Given the description of an element on the screen output the (x, y) to click on. 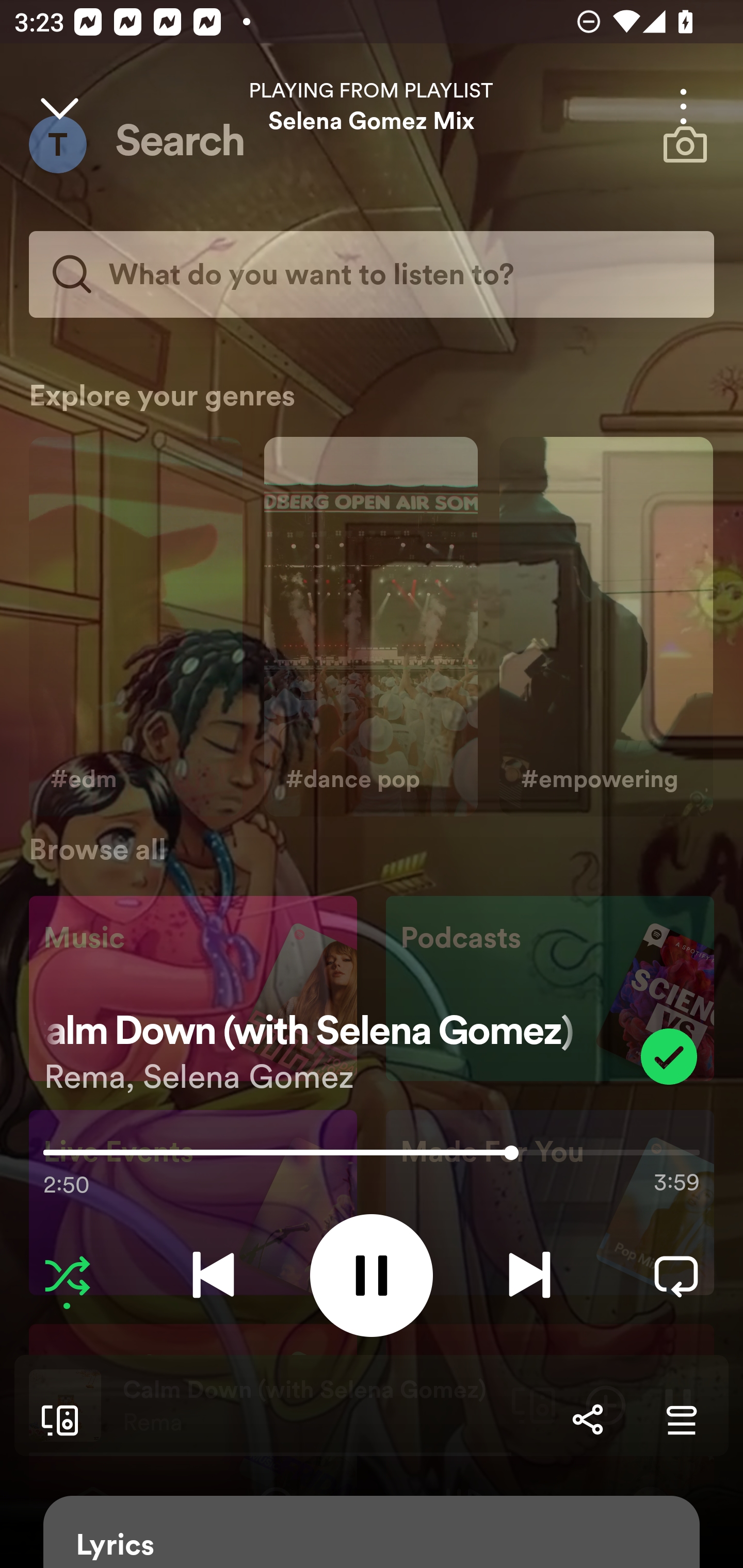
Close (59, 106)
PLAYING FROM PLAYLIST Selena Gomez Mix (371, 106)
Item added (669, 1056)
2:50 3:59 170653.0 Use volume keys to adjust (371, 1157)
Pause (371, 1275)
Previous (212, 1275)
Next (529, 1275)
Stop shuffling tracks (66, 1275)
Repeat (676, 1275)
Share (587, 1419)
Go to Queue (681, 1419)
Connect to a device. Opens the devices menu (55, 1419)
Lyrics (371, 1531)
